Given the description of an element on the screen output the (x, y) to click on. 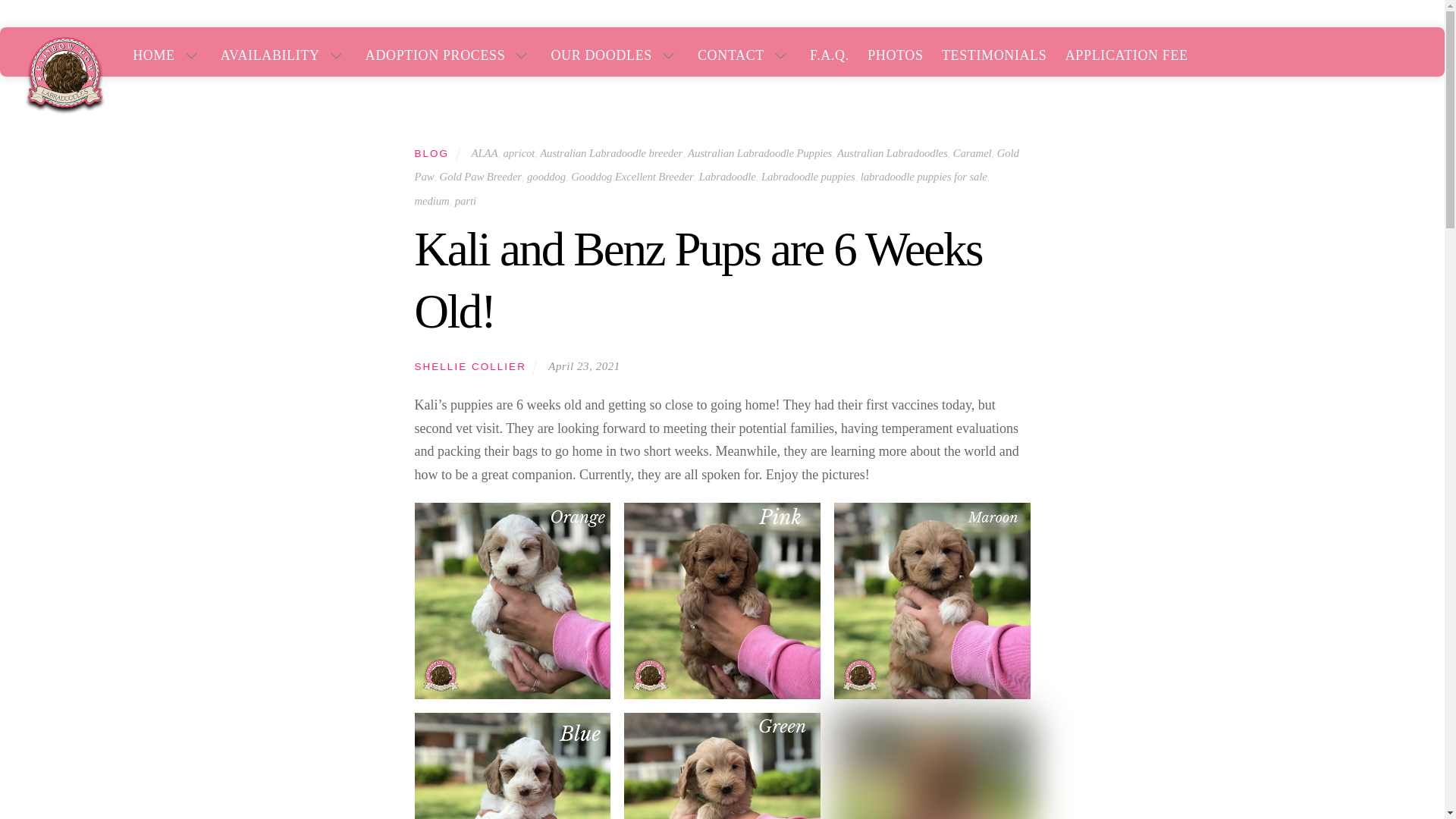
ALAA (484, 152)
Caramel (972, 152)
AVAILABILITY (283, 55)
PHOTOS (894, 55)
TESTIMONIALS (994, 55)
Gold Paw Breeder (480, 176)
gooddog (546, 176)
OUR DOODLES (614, 55)
Australian Labradoodles (892, 152)
APPLICATION FEE (1126, 55)
Australian Labradoodle Puppies (759, 152)
apricot (519, 152)
Rainbow Row Labradoodles (64, 39)
Australian Labradoodle breeder (611, 152)
HOME (168, 55)
